Given the description of an element on the screen output the (x, y) to click on. 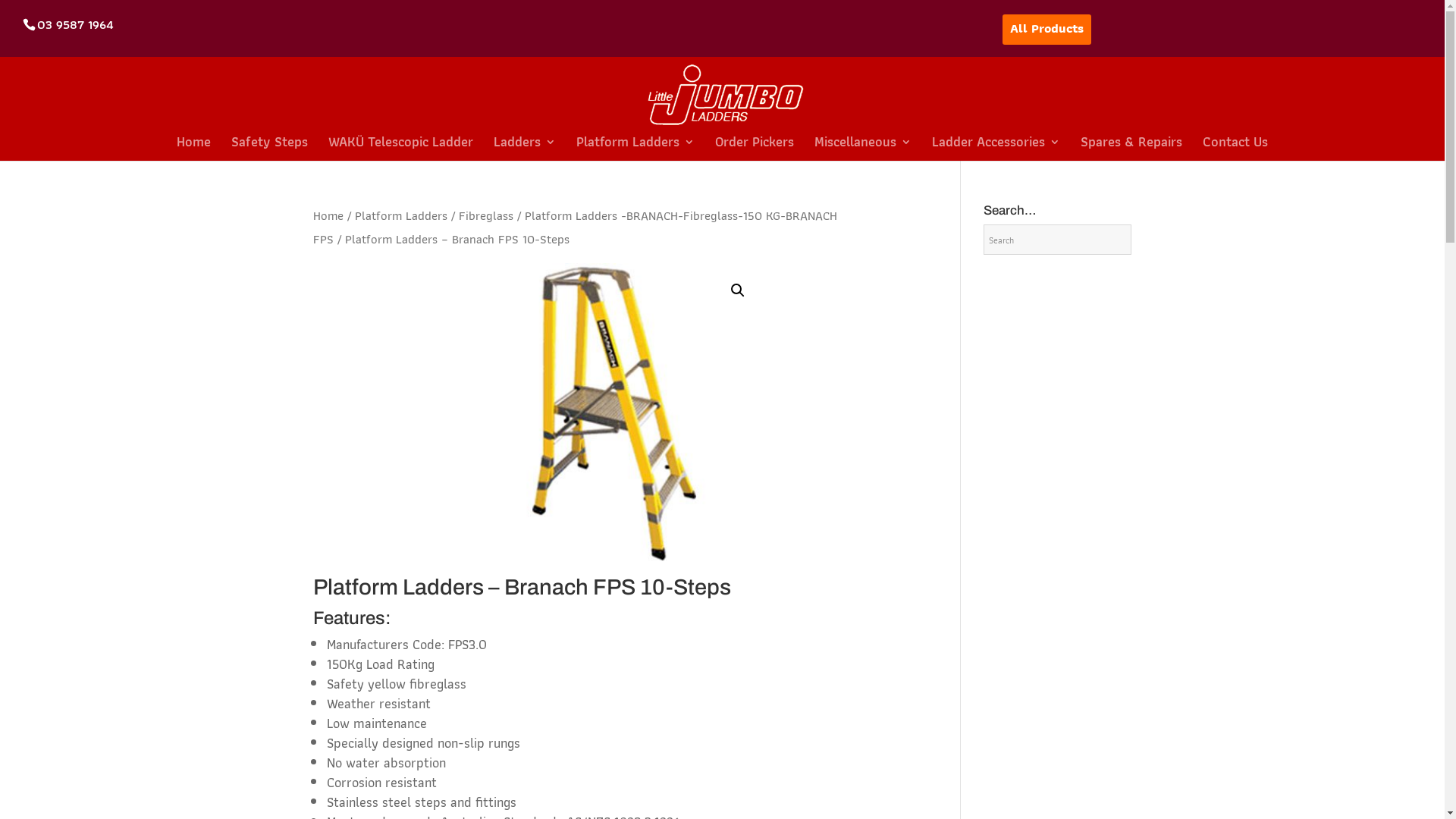
Ladders Element type: text (524, 148)
Miscellaneous Element type: text (862, 148)
Safety Steps Element type: text (269, 148)
Ladder Accessories Element type: text (995, 148)
Order Pickers Element type: text (754, 148)
Home Element type: text (193, 148)
Spares & Repairs Element type: text (1131, 148)
Platform Ladders -BRANACH-Fibreglass-150 KG-BRANACH FPS Element type: text (574, 226)
Fibreglass Element type: text (485, 215)
Platform Ladders Element type: text (400, 215)
Contact Us Element type: text (1234, 148)
All Products Element type: text (1046, 29)
Branach FPS Element type: hover (614, 413)
Home Element type: text (327, 215)
Platform Ladders Element type: text (635, 148)
